Given the description of an element on the screen output the (x, y) to click on. 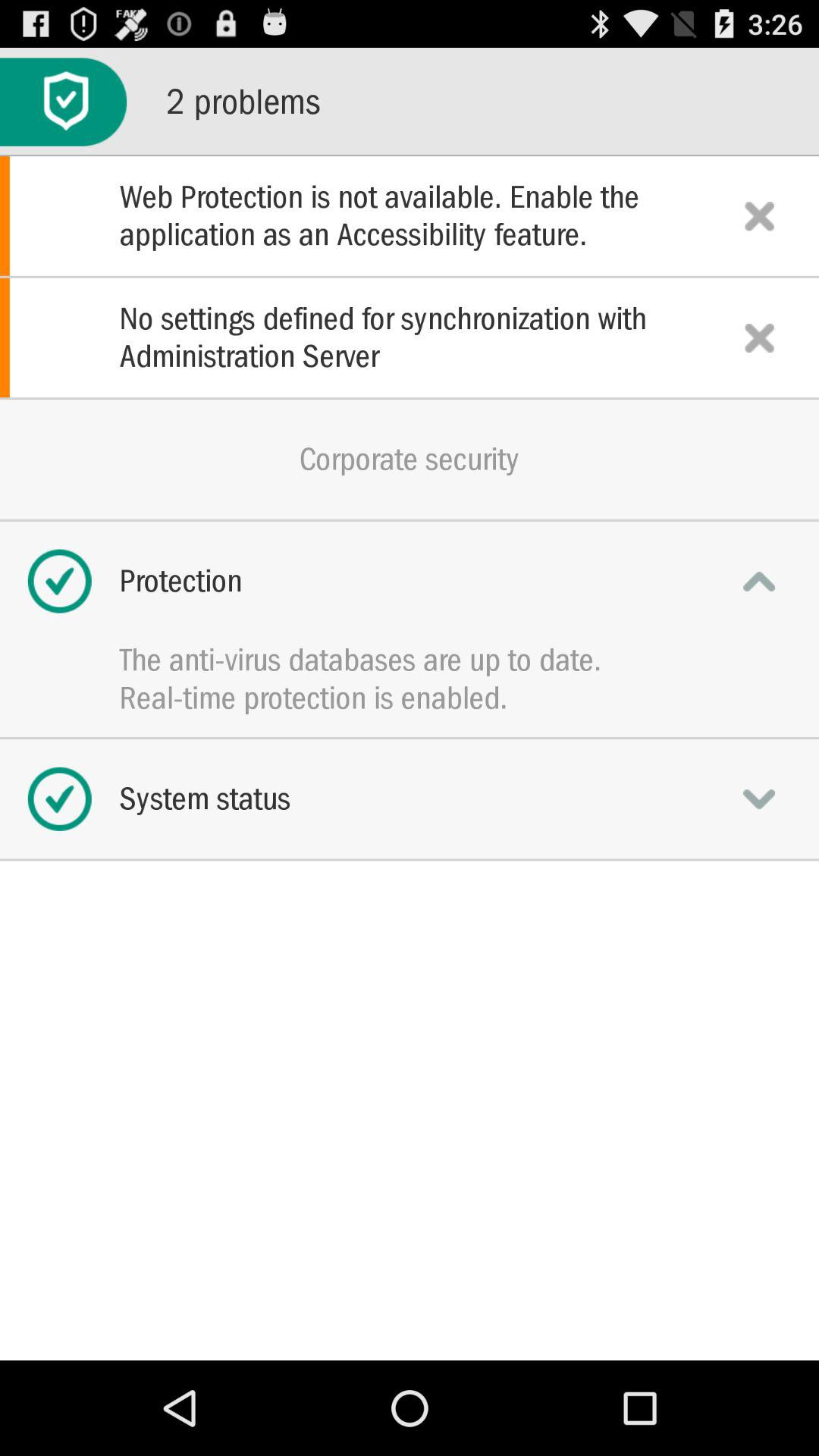
close no settings problem notification (759, 337)
